Given the description of an element on the screen output the (x, y) to click on. 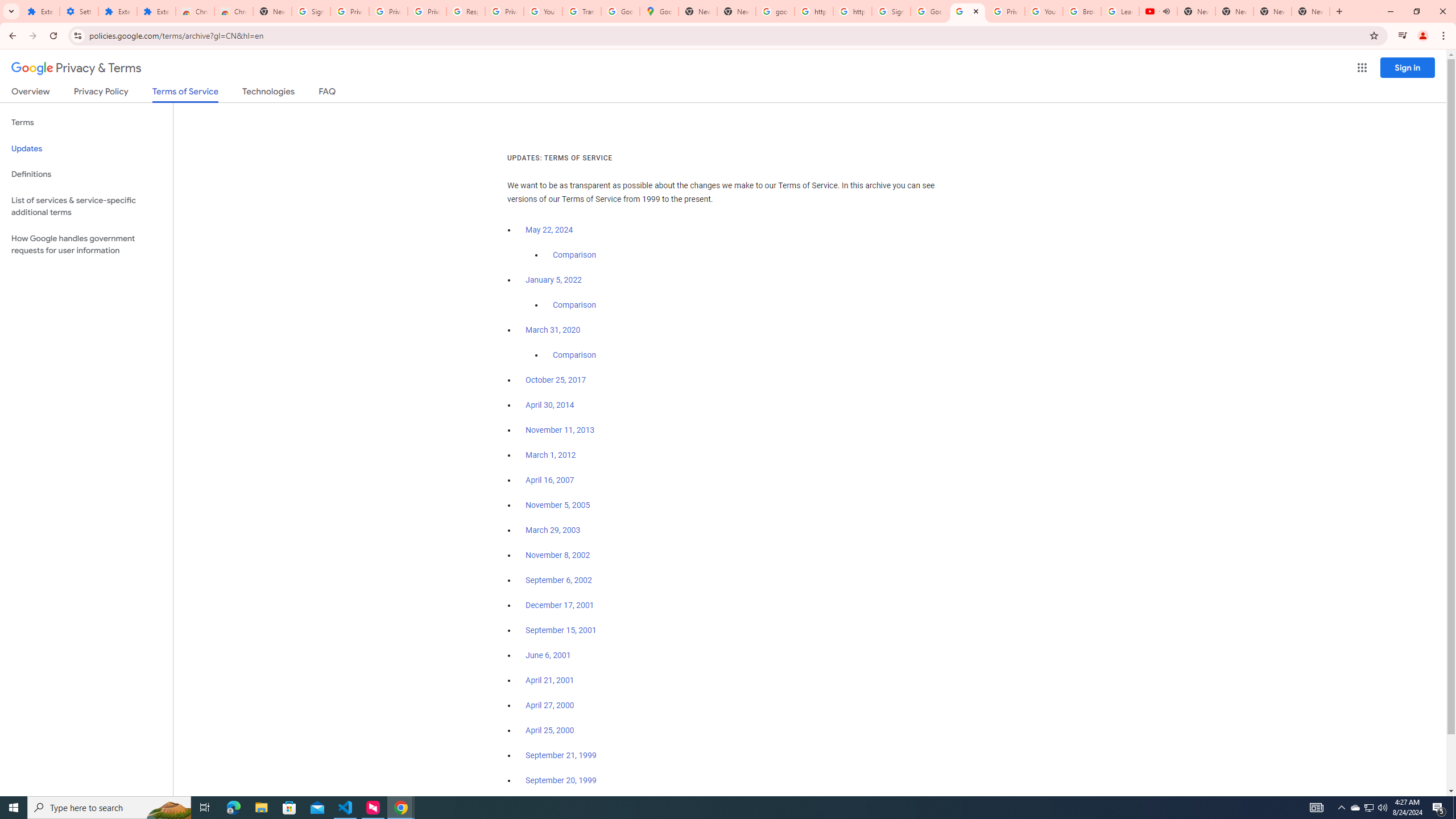
YouTube (542, 11)
Chrome Web Store (194, 11)
April 27, 2000 (550, 705)
May 22, 2024 (549, 230)
April 16, 2007 (550, 480)
September 15, 2001 (560, 629)
April 25, 2000 (550, 729)
